Given the description of an element on the screen output the (x, y) to click on. 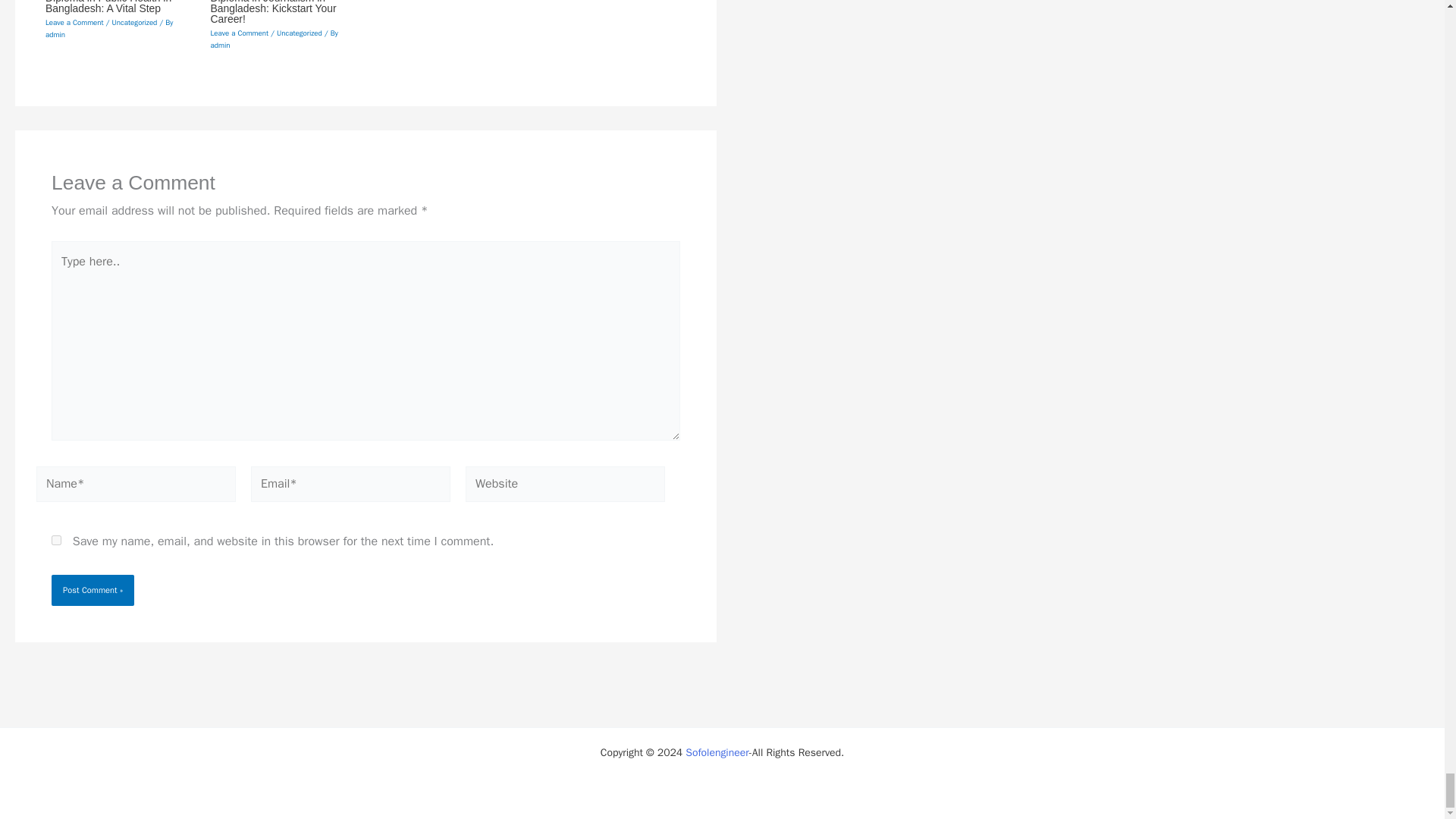
yes (55, 540)
